Given the description of an element on the screen output the (x, y) to click on. 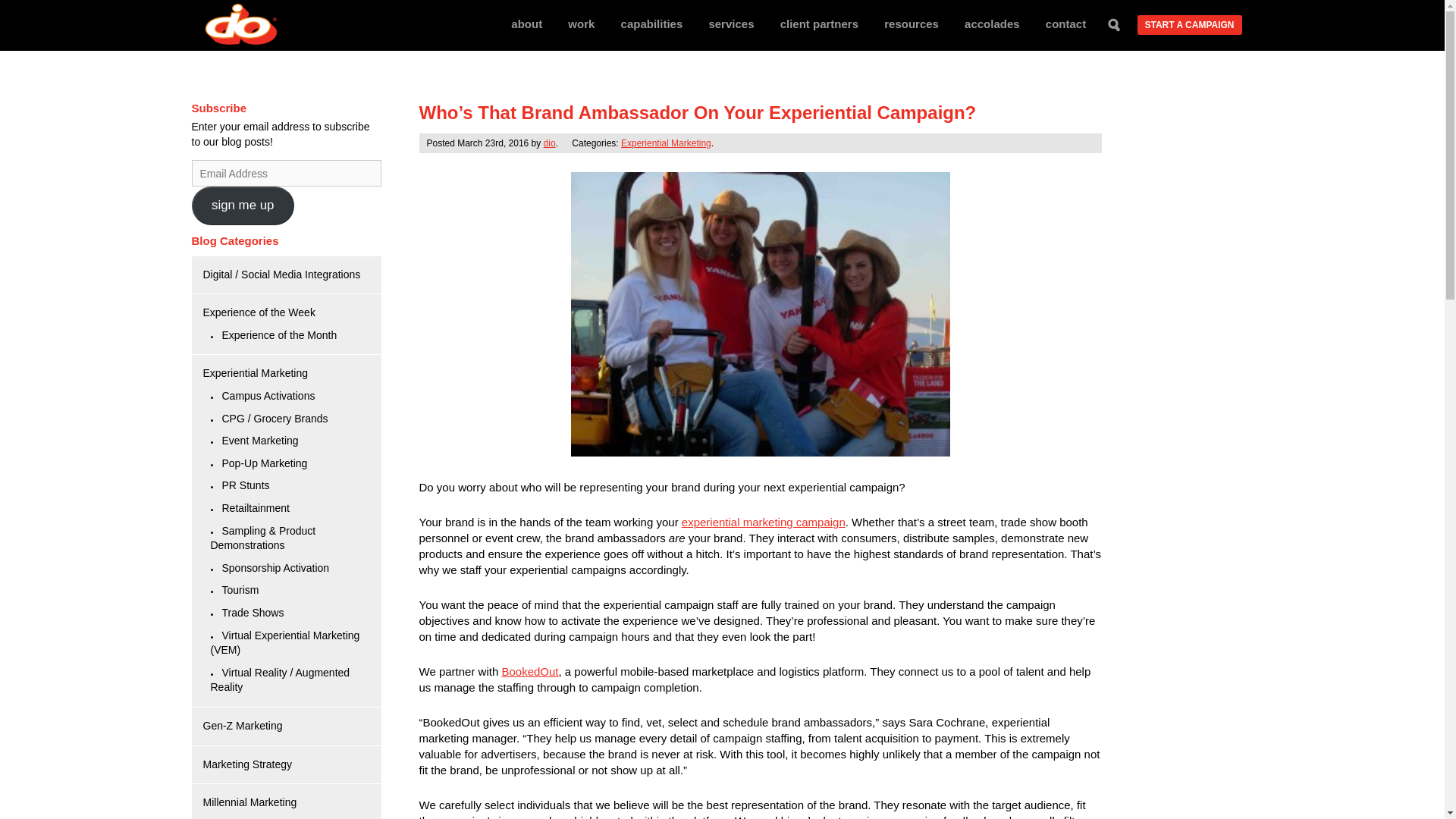
Marketing Strategy (247, 764)
START A CAMPAIGN (1189, 25)
Retailtainment (255, 508)
accolades (991, 23)
Posts by dio (549, 143)
resources (911, 23)
contact (1065, 23)
Experience of the Month (278, 335)
Tourism (240, 589)
about (526, 23)
Pop-Up Marketing (264, 463)
client partners (819, 23)
Experiential Marketing (666, 143)
dio (549, 143)
Experiential Marketing (255, 372)
